Given the description of an element on the screen output the (x, y) to click on. 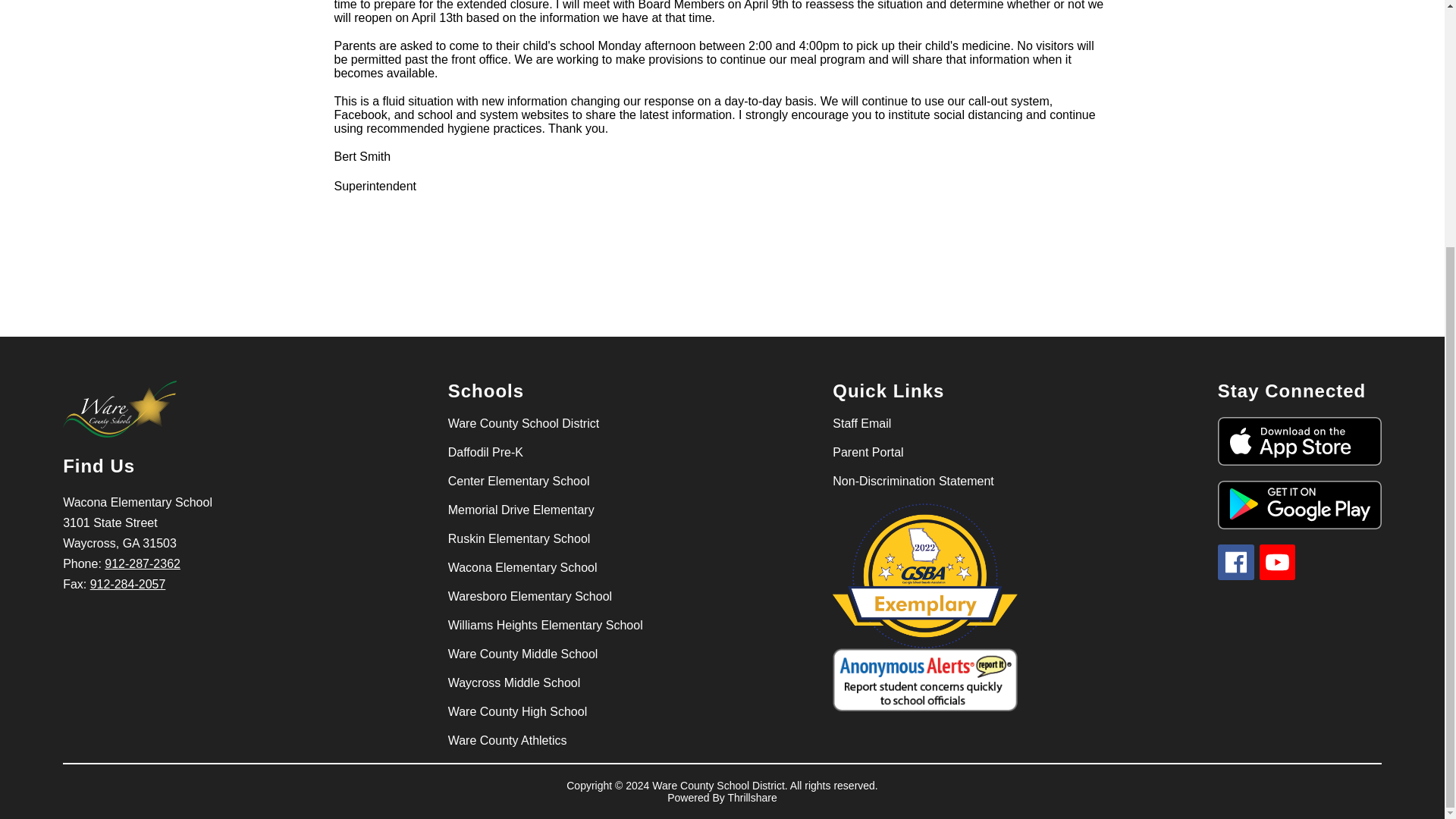
Ware County Athletics (507, 740)
Memorial Drive Elementary (521, 509)
Thrillshare (751, 797)
Ware County School District (523, 423)
Staff Email (861, 423)
Williams Heights Elementary School (545, 625)
912-287-2362 (142, 563)
Waycross Middle School (514, 683)
Ruskin Elementary School (519, 539)
Daffodil Pre-K (485, 452)
